Given the description of an element on the screen output the (x, y) to click on. 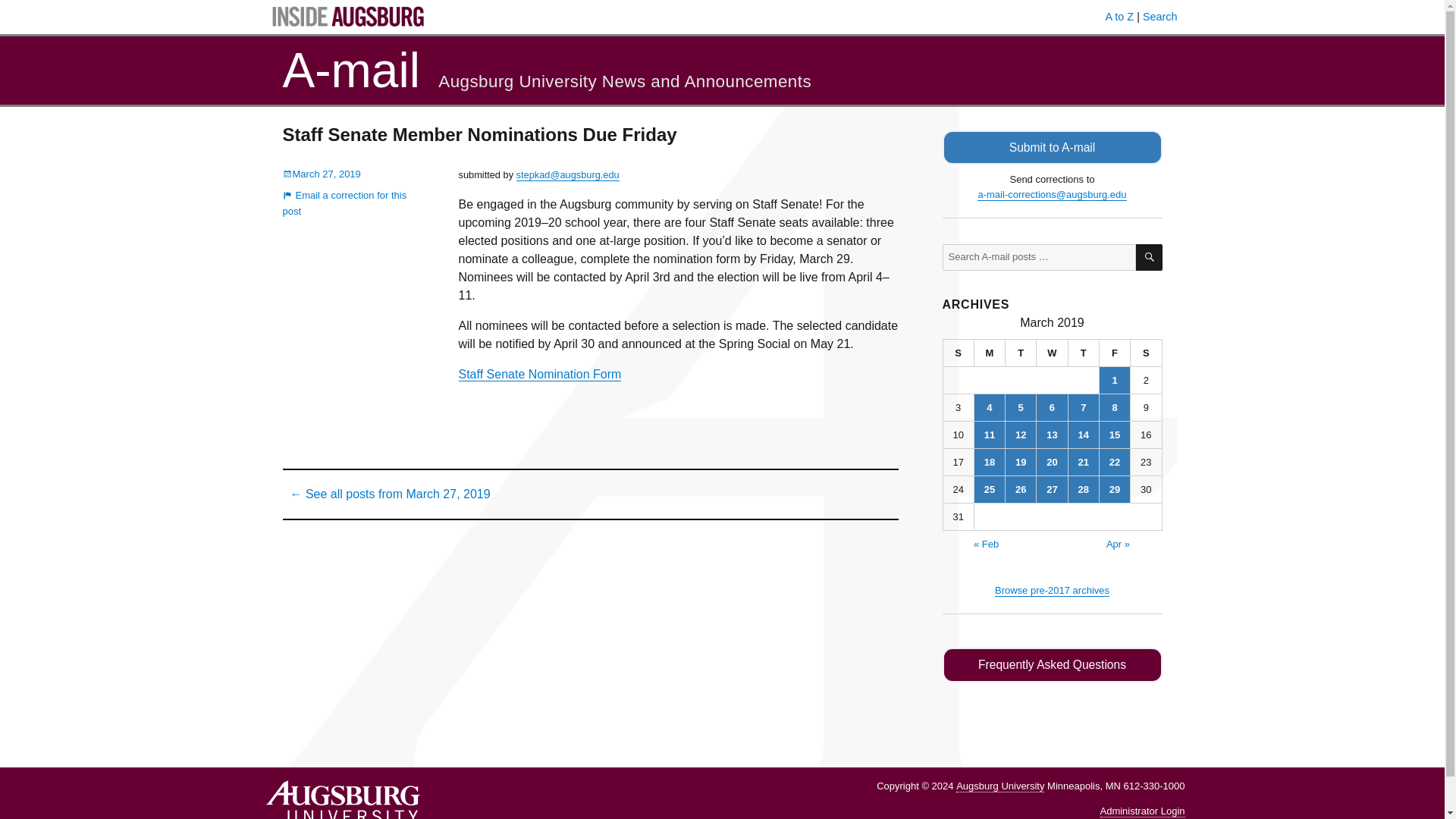
18 (989, 461)
6 (1051, 406)
Search (1159, 16)
20 (1051, 461)
25 (989, 488)
Wednesday (1051, 352)
Browse pre-2017 archives (1051, 590)
21 (1083, 461)
Augsburg University (999, 786)
March 27, 2019 (320, 173)
